Given the description of an element on the screen output the (x, y) to click on. 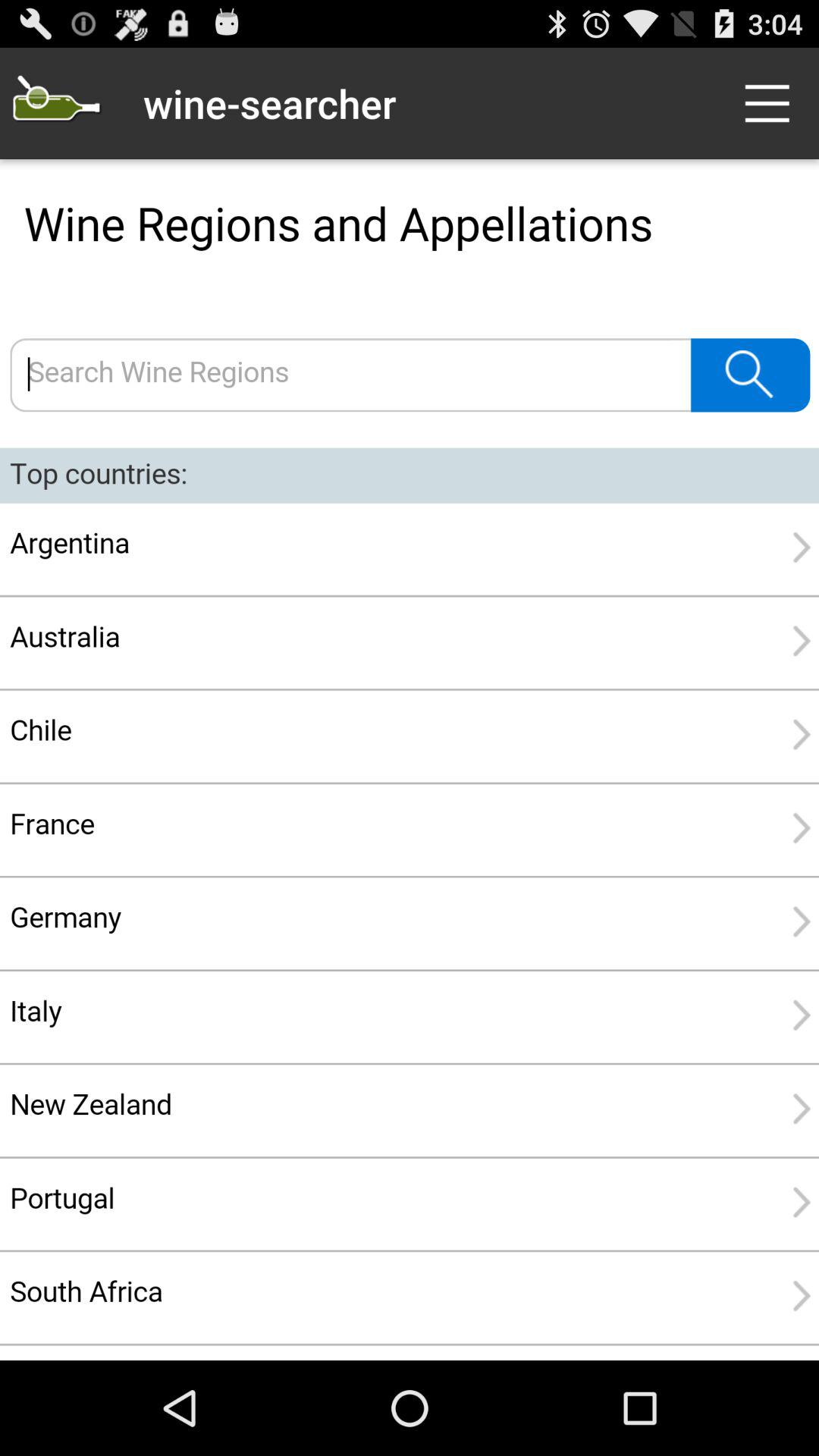
view wine region (409, 759)
